Given the description of an element on the screen output the (x, y) to click on. 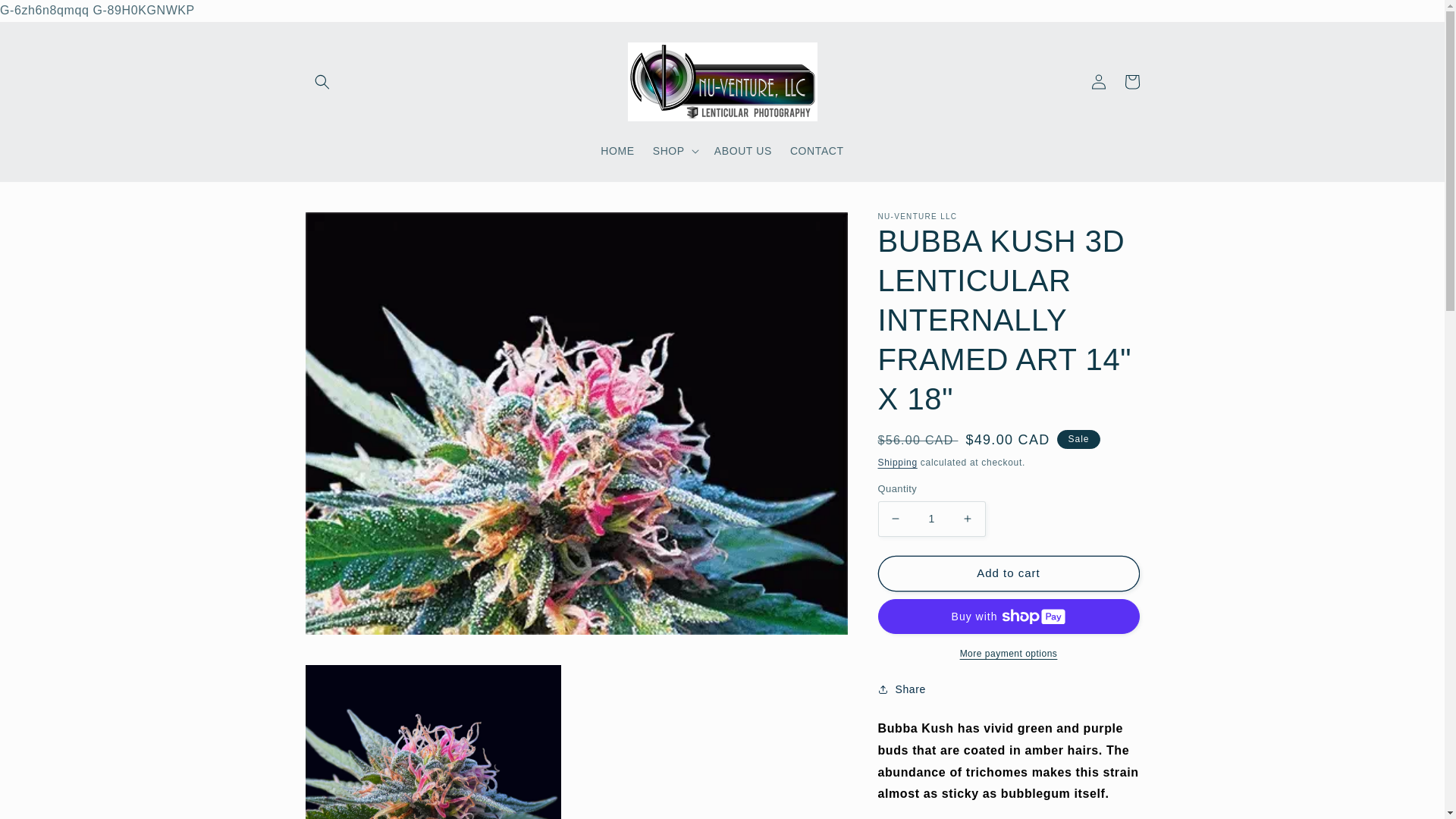
Shipping Element type: text (897, 462)
ABOUT US Element type: text (743, 150)
Skip to product information Element type: text (350, 229)
CONTACT Element type: text (817, 150)
Add to cart Element type: text (1008, 573)
More payment options Element type: text (1008, 653)
Cart Element type: text (1131, 81)
https://3dlenticularpics.com/en-ca/products/bubba-kush Element type: text (968, 739)
HOME Element type: text (617, 150)
Log in Element type: text (1097, 81)
